Given the description of an element on the screen output the (x, y) to click on. 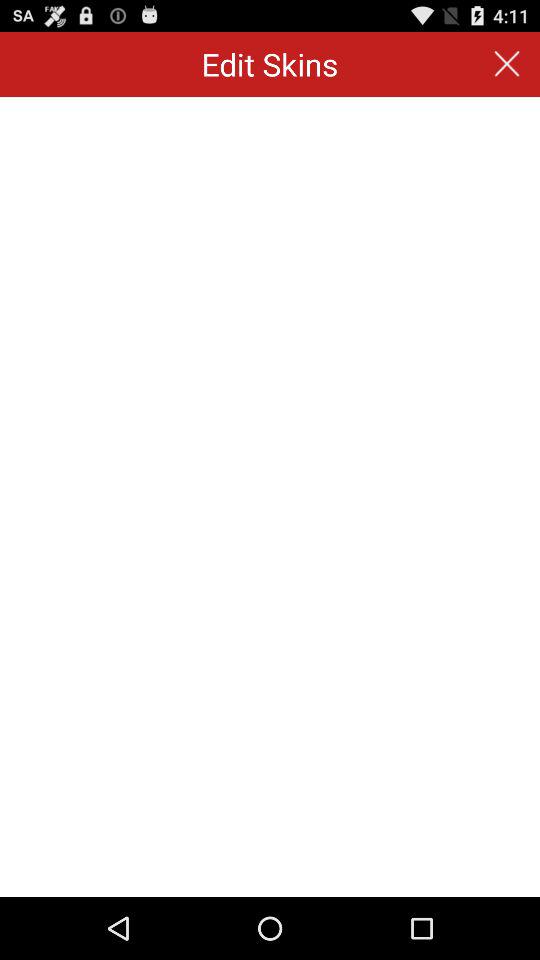
press button at the top right corner (506, 64)
